Given the description of an element on the screen output the (x, y) to click on. 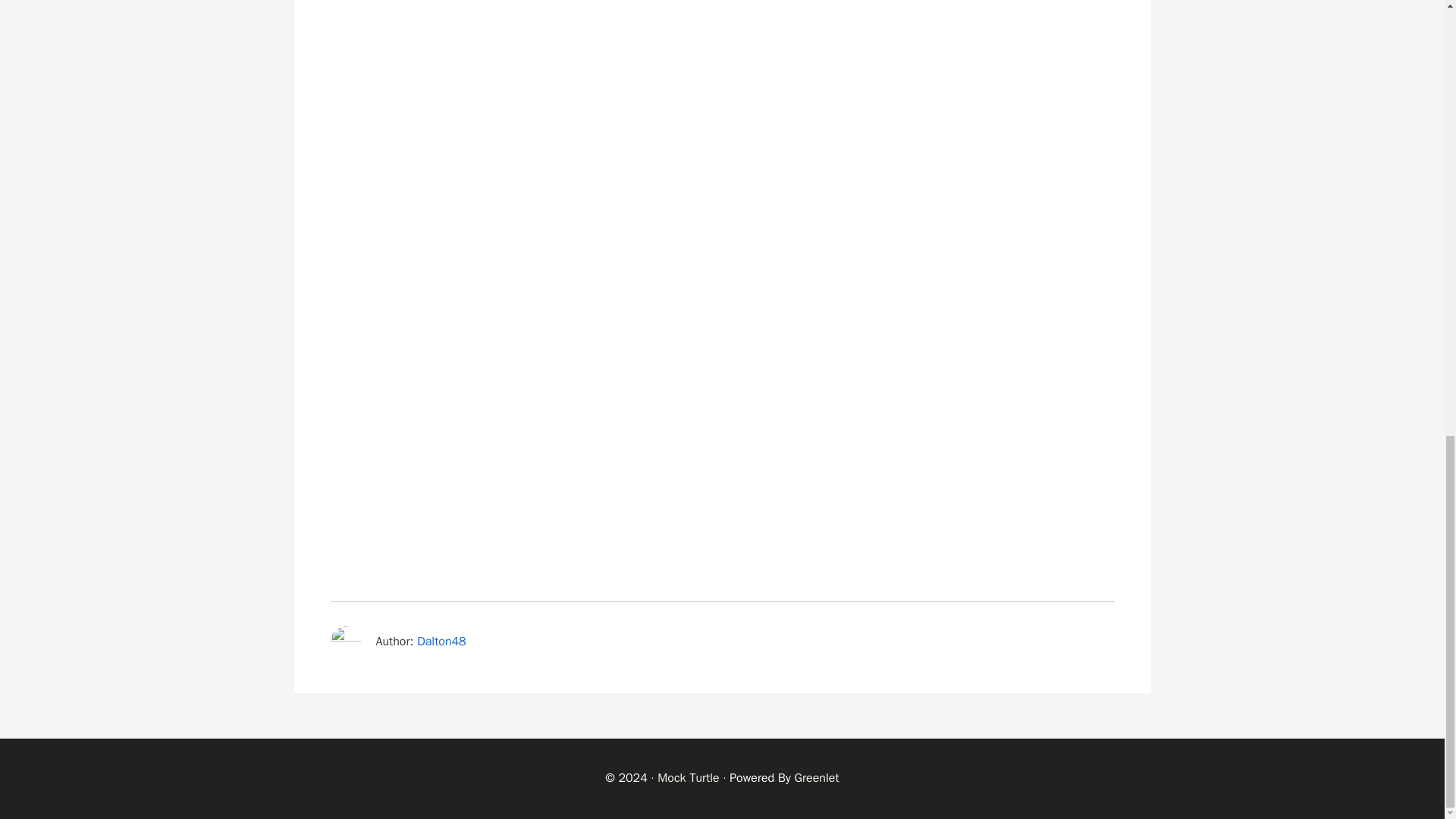
Greenlet (815, 777)
Mock Turtle (688, 777)
Dalton48 (440, 641)
